Given the description of an element on the screen output the (x, y) to click on. 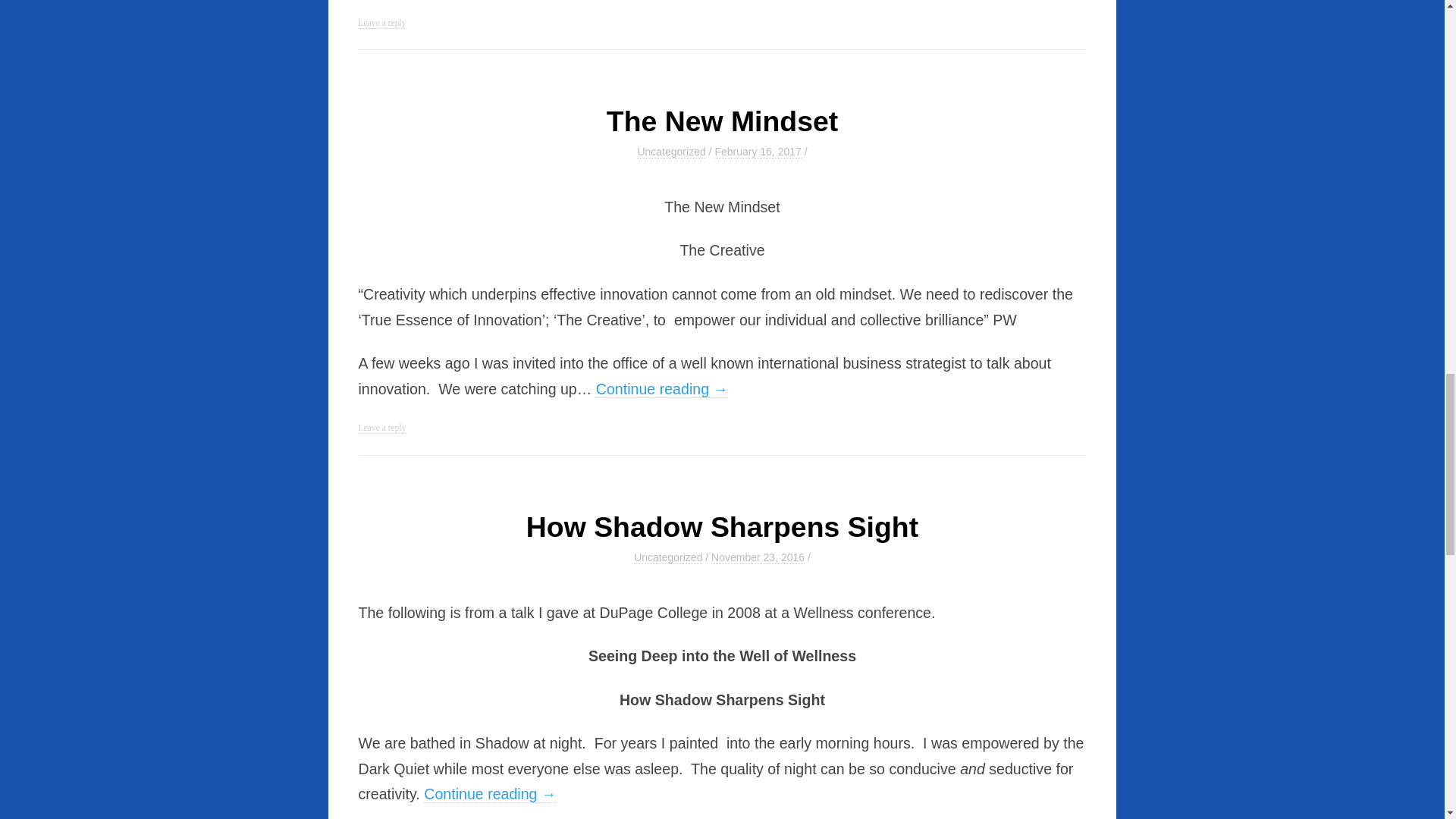
12:43 am (758, 557)
Uncategorized (670, 151)
Leave a reply (382, 428)
9:29 pm (757, 151)
The New Mindset (722, 121)
February 16, 2017 (757, 151)
Leave a reply (382, 23)
How Shadow Sharpens Sight (721, 526)
November 23, 2016 (758, 557)
Uncategorized (667, 557)
